Given the description of an element on the screen output the (x, y) to click on. 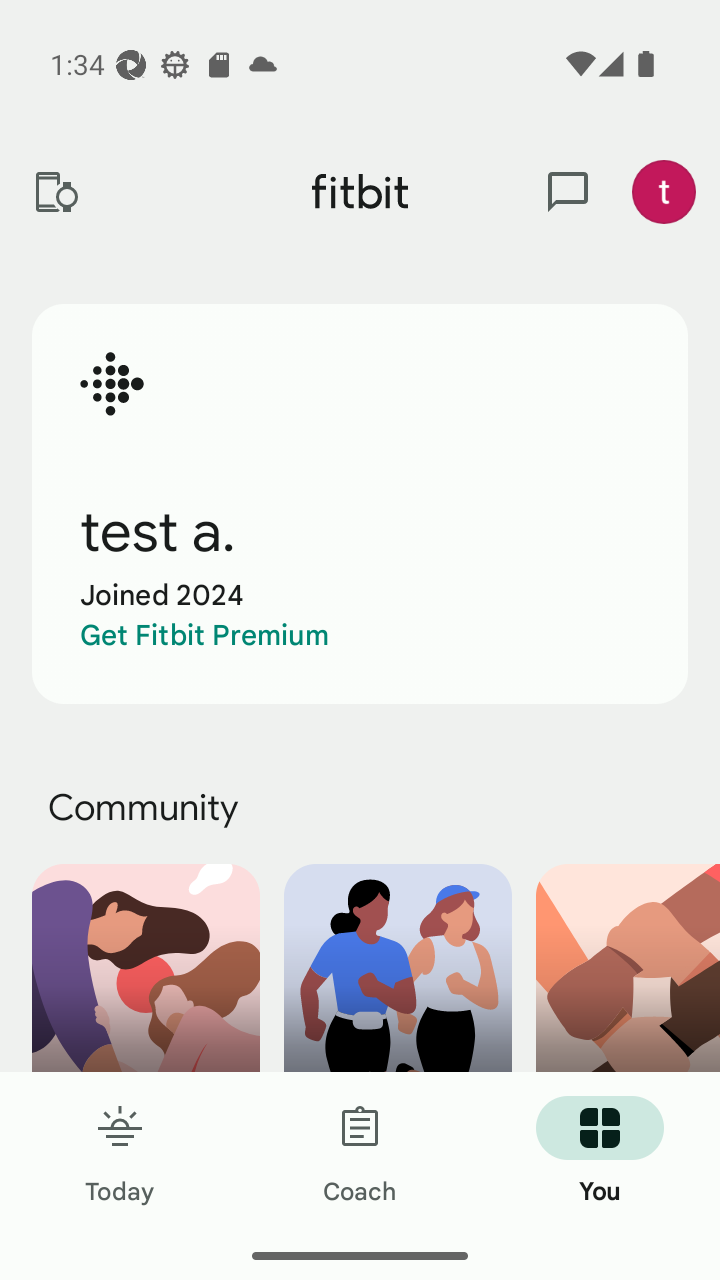
Devices and apps (55, 191)
messages and notifications (567, 191)
Get Fitbit Premium (204, 635)
Today (119, 1151)
Coach (359, 1151)
